Given the description of an element on the screen output the (x, y) to click on. 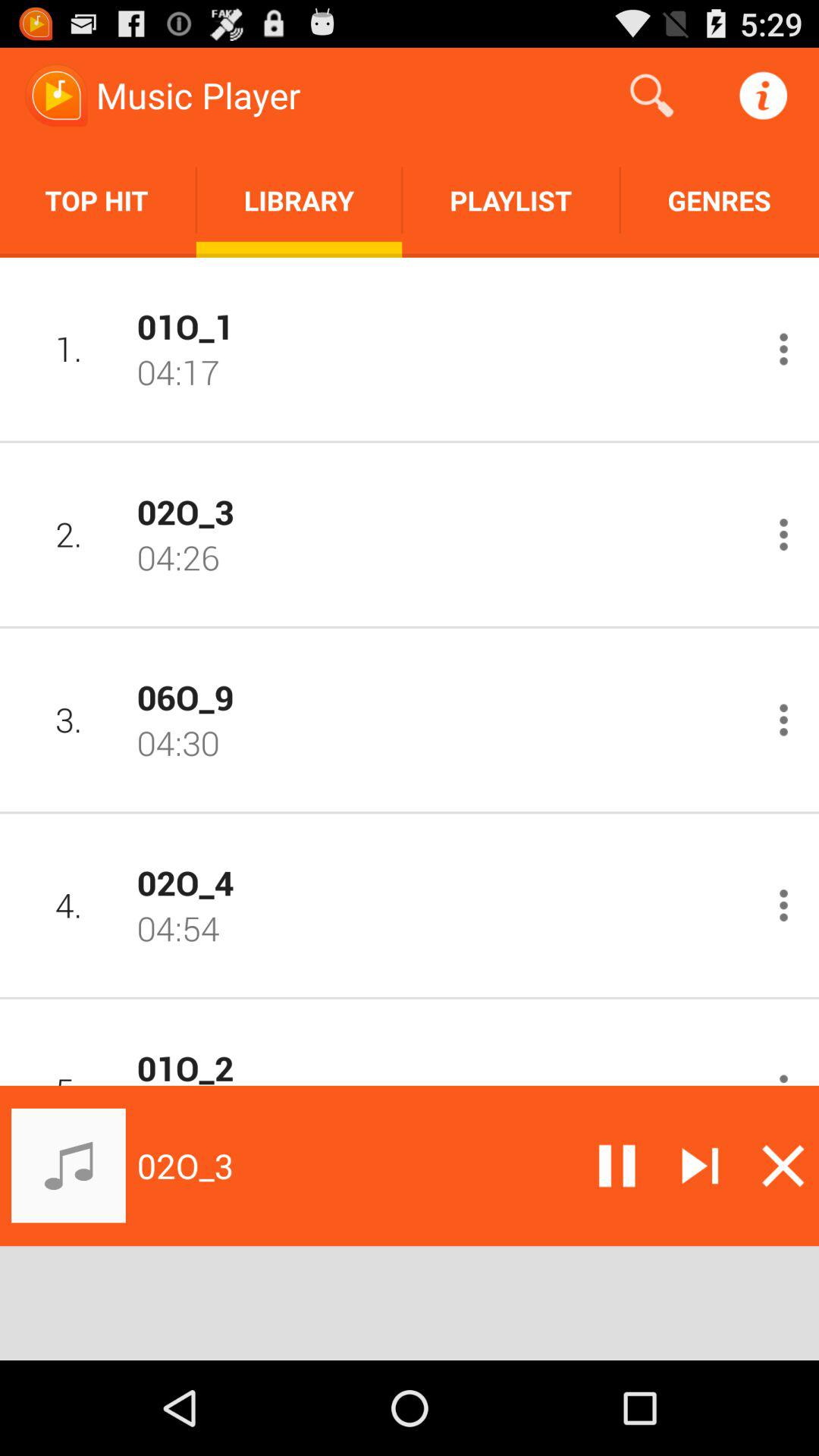
menu options (783, 1075)
